Given the description of an element on the screen output the (x, y) to click on. 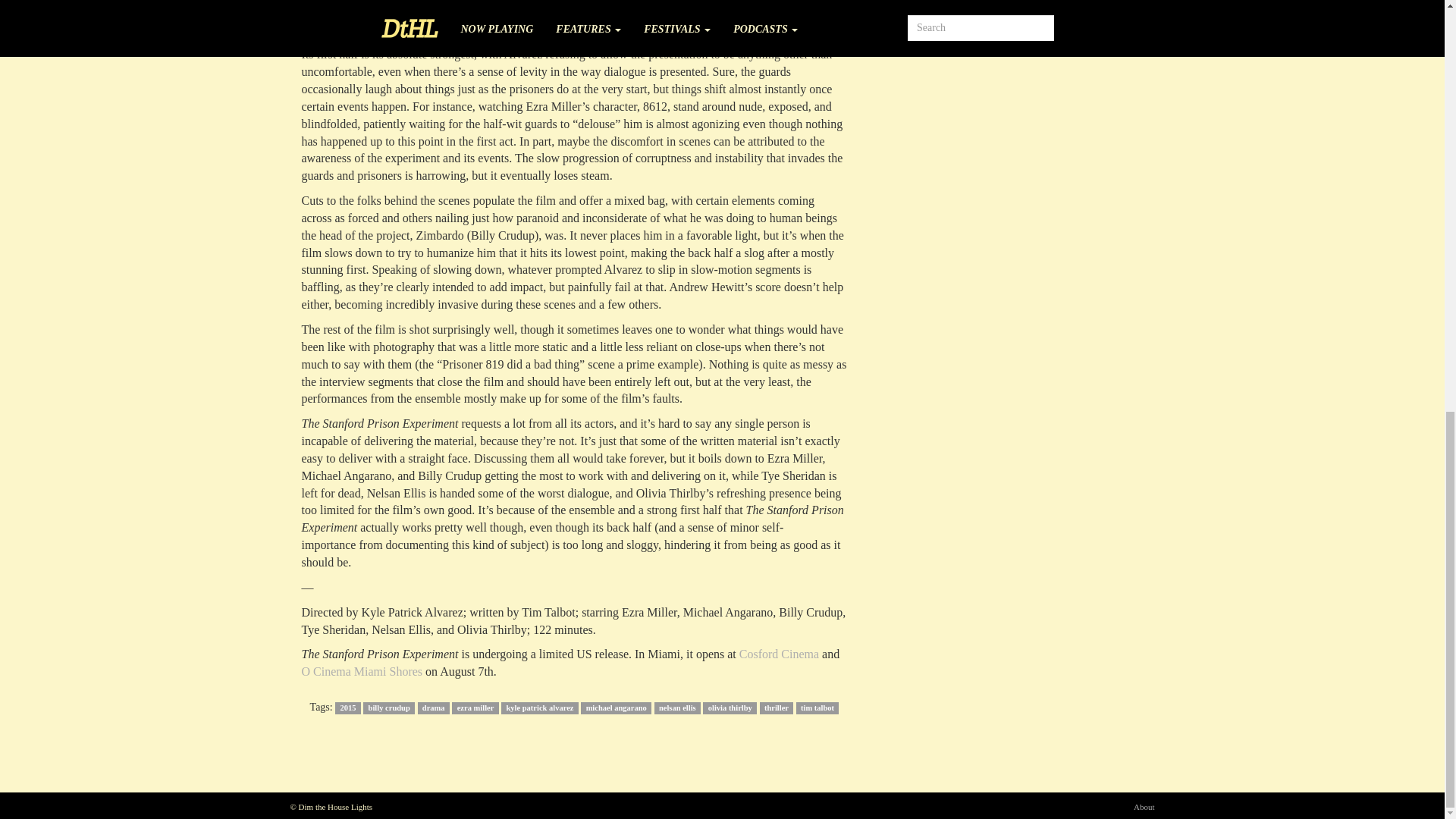
kyle patrick alvarez (539, 707)
michael angarano (615, 707)
O Cinema Miami Shores (362, 671)
2015 (347, 707)
tim talbot (818, 707)
thriller (776, 707)
drama (433, 707)
olivia thirlby (730, 707)
ezra miller (474, 707)
billy crudup (388, 707)
nelsan ellis (676, 707)
Cosford Cinema (778, 653)
